Given the description of an element on the screen output the (x, y) to click on. 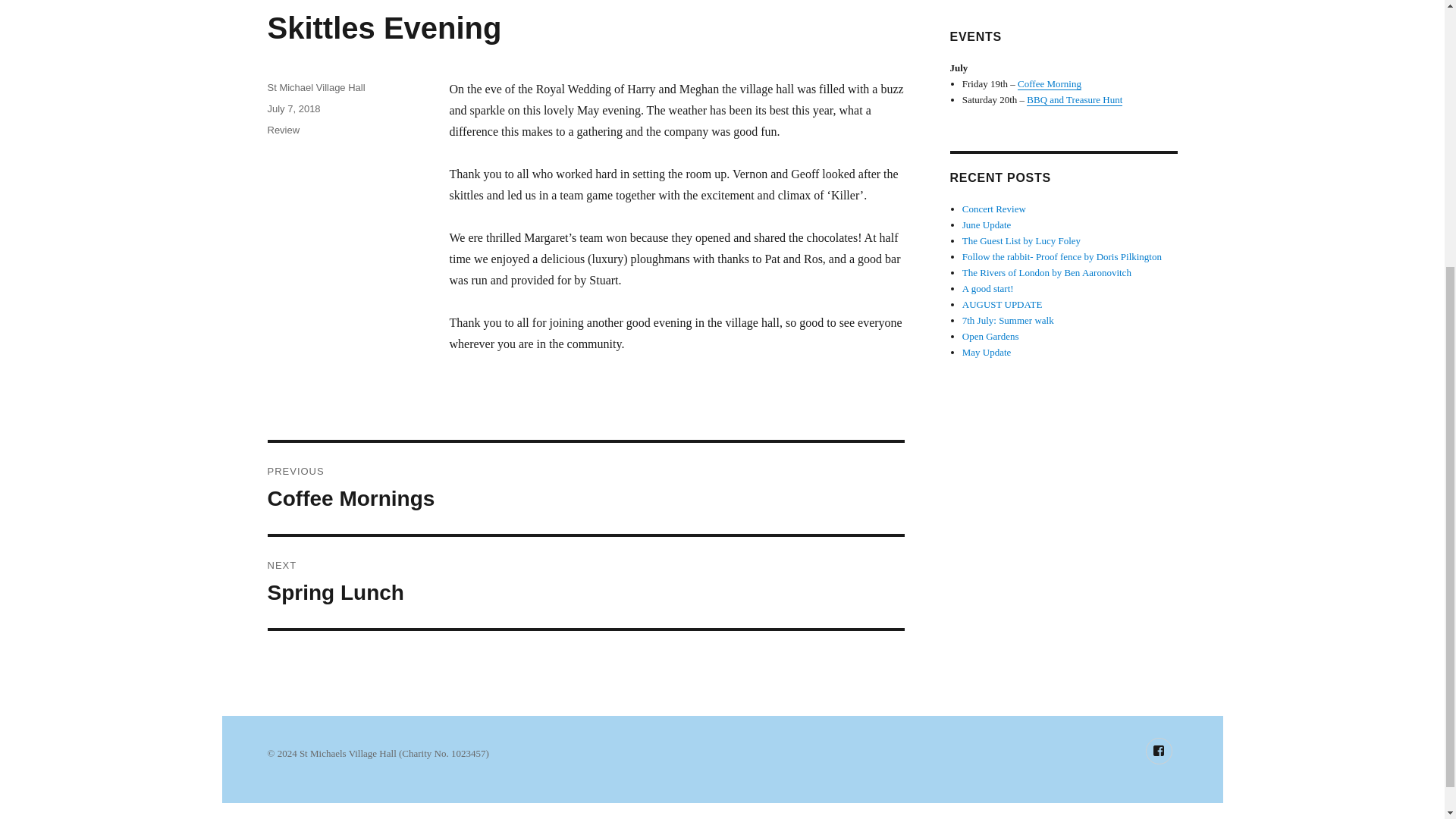
Follow the rabbit- Proof fence by Doris Pilkington (1061, 256)
The Rivers of London by Ben Aaronovitch (1046, 272)
A good start! (987, 288)
7th July: Summer walk (1008, 319)
St Michael Village Hall (315, 87)
Coffee Morning (1049, 83)
June Update (986, 224)
The Guest List by Lucy Foley (1021, 240)
July 7, 2018 (293, 108)
BBQ and Treasure Hunt (1074, 99)
Review (282, 129)
Open Gardens (585, 582)
Concert Review (990, 336)
May Update (994, 208)
